Given the description of an element on the screen output the (x, y) to click on. 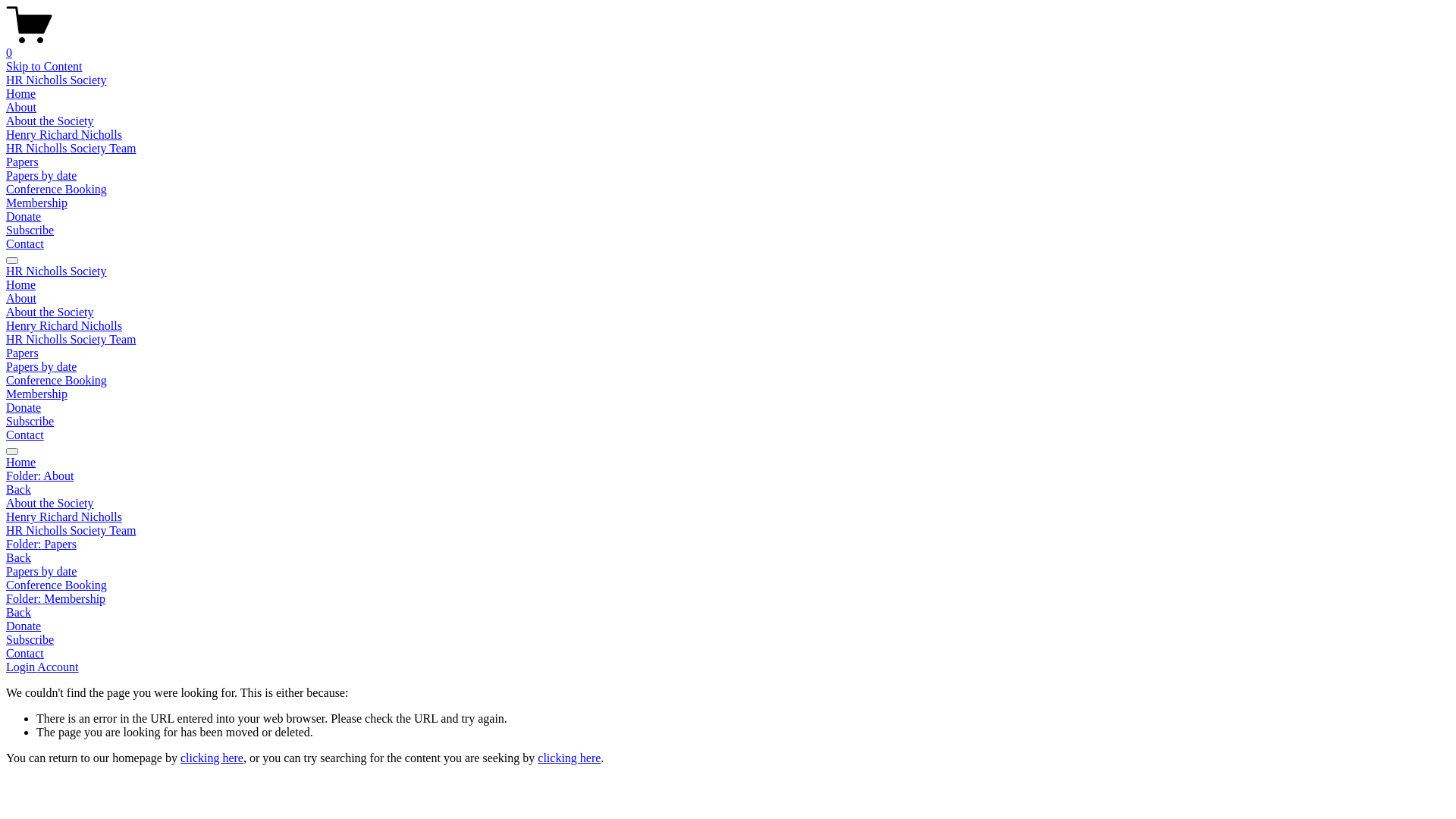
Login Account Element type: text (42, 666)
Back Element type: text (18, 611)
clicking here Element type: text (568, 757)
Papers by date Element type: text (727, 571)
Contact Element type: text (24, 434)
Conference Booking Element type: text (56, 379)
HR Nicholls Society Team Element type: text (70, 338)
Home Element type: text (20, 284)
Donate Element type: text (727, 626)
Henry Richard Nicholls Element type: text (727, 517)
Donate Element type: text (23, 407)
HR Nicholls Society Team Element type: text (727, 530)
Papers Element type: text (22, 161)
Subscribe Element type: text (727, 639)
Membership Element type: text (36, 202)
About Element type: text (21, 106)
Subscribe Element type: text (29, 420)
About the Society Element type: text (727, 503)
Donate Element type: text (23, 216)
About Element type: text (21, 297)
Henry Richard Nicholls Element type: text (64, 134)
Papers by date Element type: text (41, 366)
Henry Richard Nicholls Element type: text (64, 325)
clicking here Element type: text (211, 757)
Back Element type: text (18, 557)
Home Element type: text (727, 462)
About the Society Element type: text (50, 311)
Folder: About Element type: text (727, 476)
HR Nicholls Society Element type: text (56, 270)
HR Nicholls Society Team Element type: text (70, 147)
Skip to Content Element type: text (43, 65)
HR Nicholls Society Element type: text (56, 79)
Conference Booking Element type: text (56, 188)
Folder: Papers Element type: text (727, 544)
Papers by date Element type: text (41, 175)
Subscribe Element type: text (29, 229)
Contact Element type: text (24, 243)
Folder: Membership Element type: text (727, 598)
Contact Element type: text (727, 653)
Membership Element type: text (36, 393)
Papers Element type: text (22, 352)
Back Element type: text (18, 489)
Home Element type: text (20, 93)
About the Society Element type: text (50, 120)
Conference Booking Element type: text (727, 585)
0 Element type: text (727, 45)
